Given the description of an element on the screen output the (x, y) to click on. 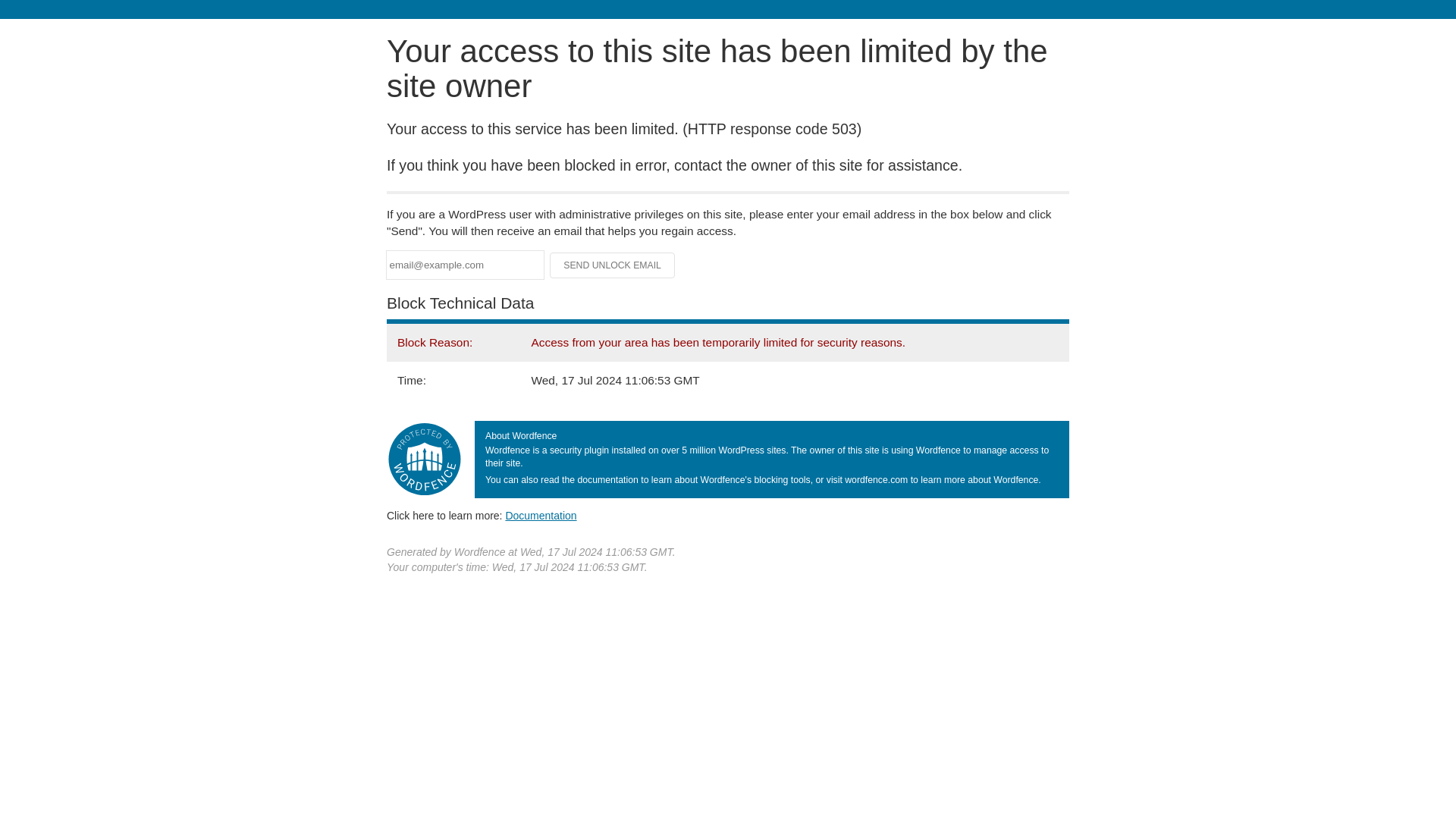
Send Unlock Email (612, 265)
Send Unlock Email (612, 265)
Documentation (540, 515)
